Given the description of an element on the screen output the (x, y) to click on. 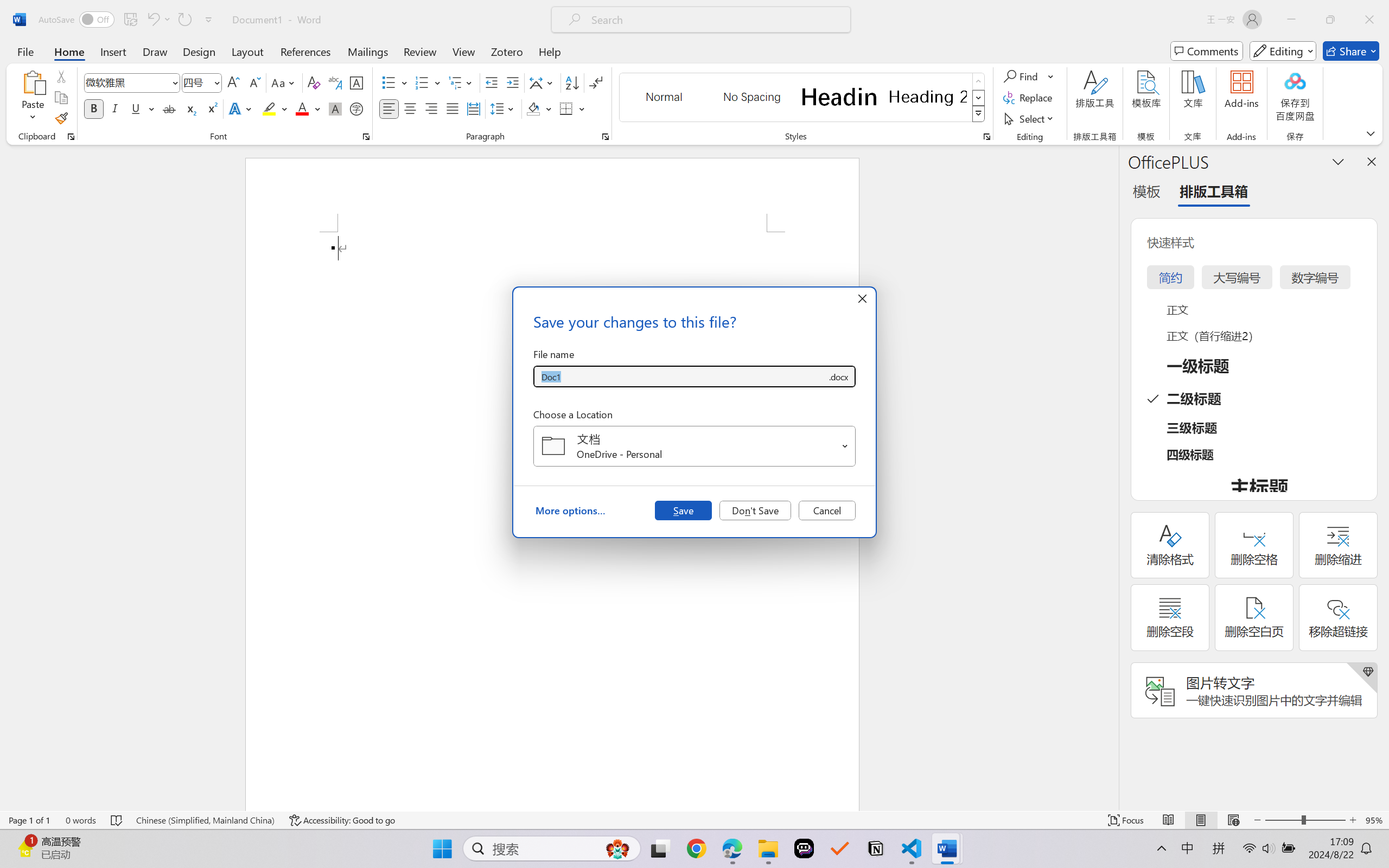
Cancel (826, 509)
